Given the description of an element on the screen output the (x, y) to click on. 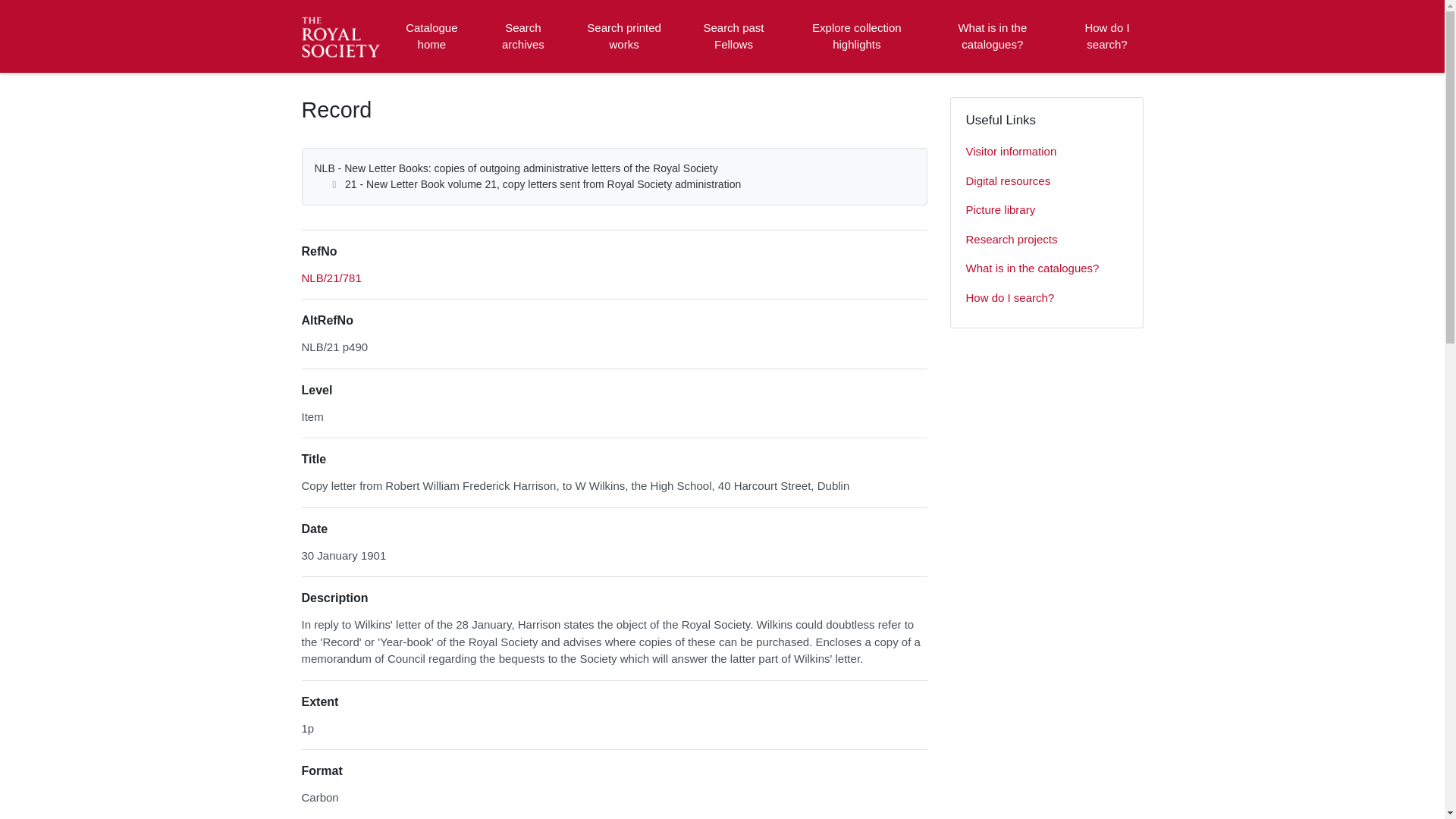
Search past Fellows (732, 36)
Homepage (343, 36)
How do I search? (1046, 297)
Picture library (1046, 210)
Visitor information (1046, 152)
What is in the catalogues? (1046, 268)
What is in the catalogues? (991, 36)
Browse record in hierarchy. (331, 277)
Explore collection highlights (856, 36)
Research projects (1046, 239)
Search archives (522, 36)
Search printed works (624, 36)
Catalogue home (431, 36)
